Given the description of an element on the screen output the (x, y) to click on. 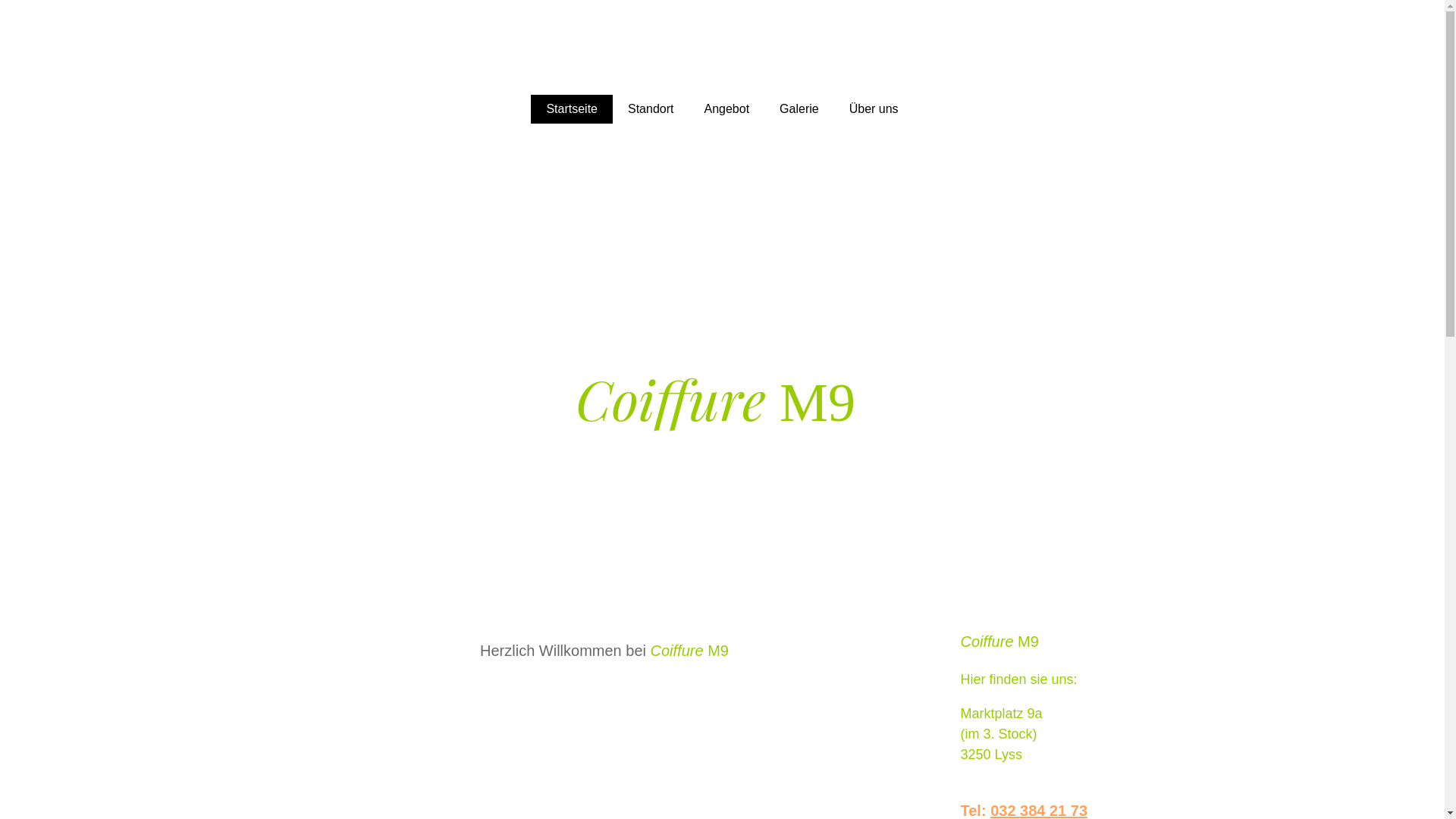
Angebot Element type: text (726, 108)
Startseite Element type: text (571, 108)
Standort Element type: text (650, 108)
Galerie Element type: text (799, 108)
